Given the description of an element on the screen output the (x, y) to click on. 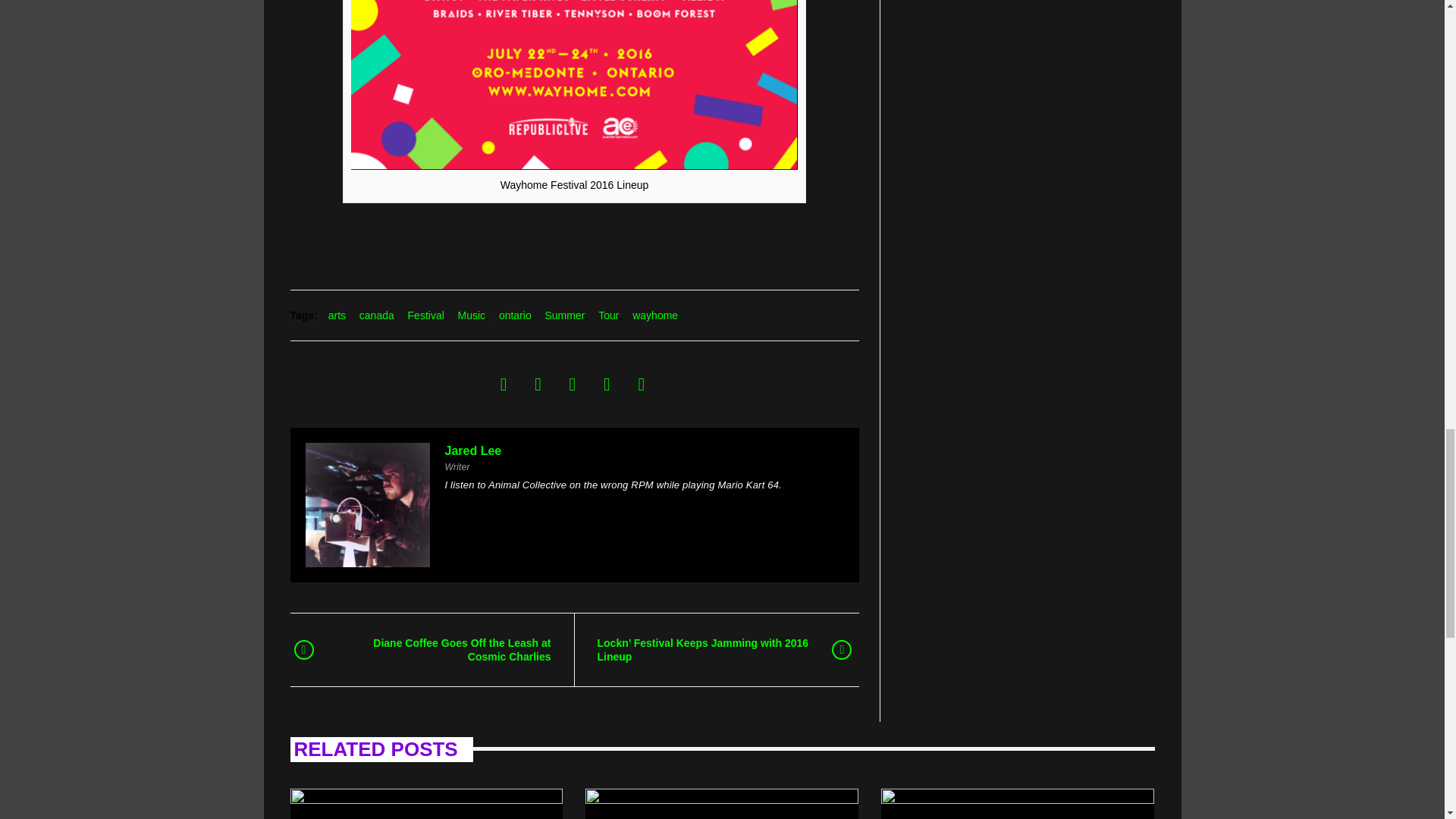
Music (472, 315)
Diane Coffee Goes Off the Leash at Cosmic Charlies (442, 649)
Festival (425, 315)
canada (376, 315)
wayhome (654, 315)
Jared Lee (472, 450)
ontario (515, 315)
Tour (608, 315)
Summer (564, 315)
